Given the description of an element on the screen output the (x, y) to click on. 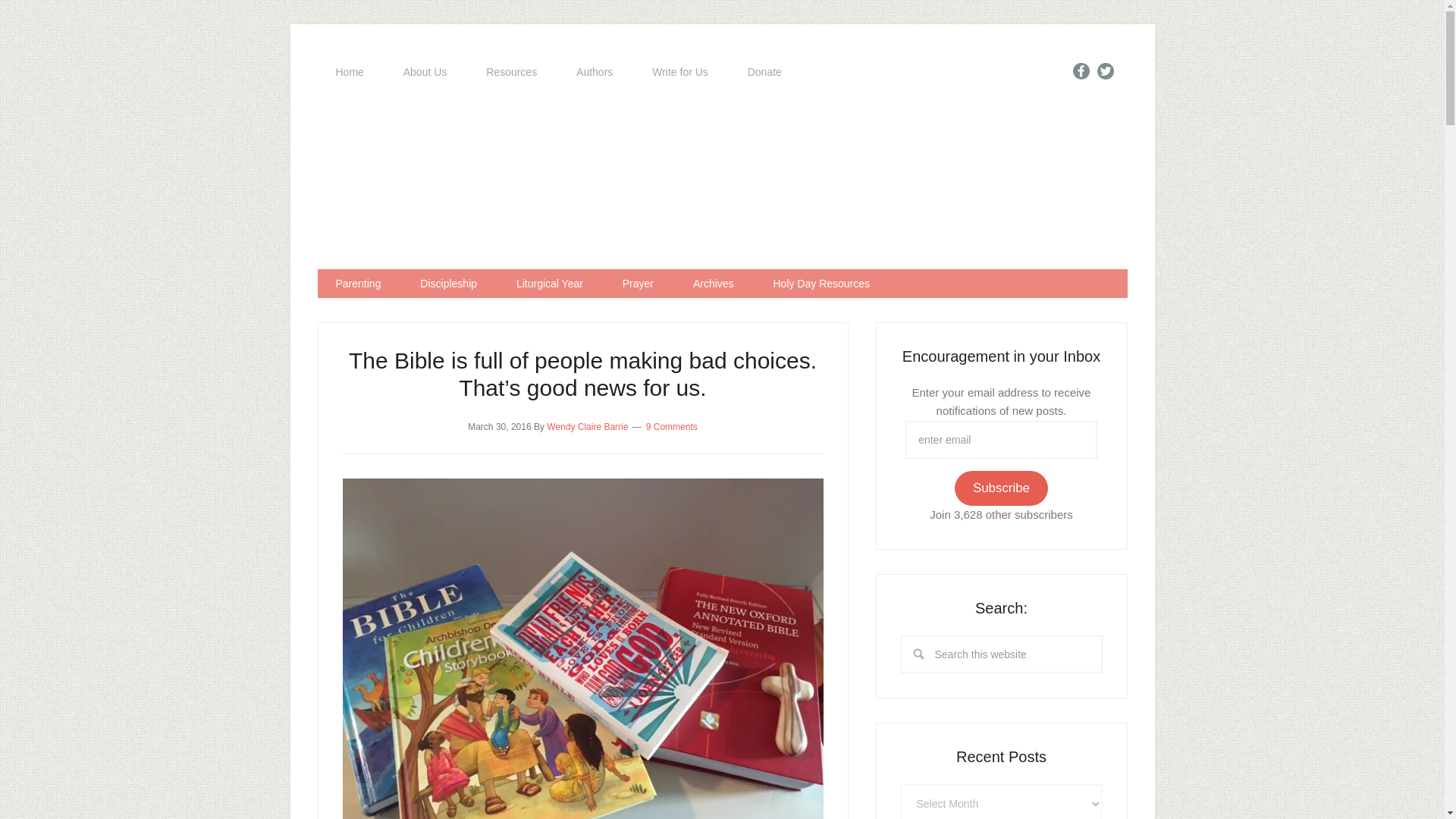
Resources (510, 71)
Holy Day Resources (821, 283)
Write for Us (679, 71)
Prayer (637, 283)
Authors (593, 71)
Parenting (357, 283)
Discipleship (448, 283)
Liturgical Year (549, 283)
9 Comments (671, 426)
Archives (713, 283)
Wendy Claire Barrie (587, 426)
About Us (425, 71)
